Given the description of an element on the screen output the (x, y) to click on. 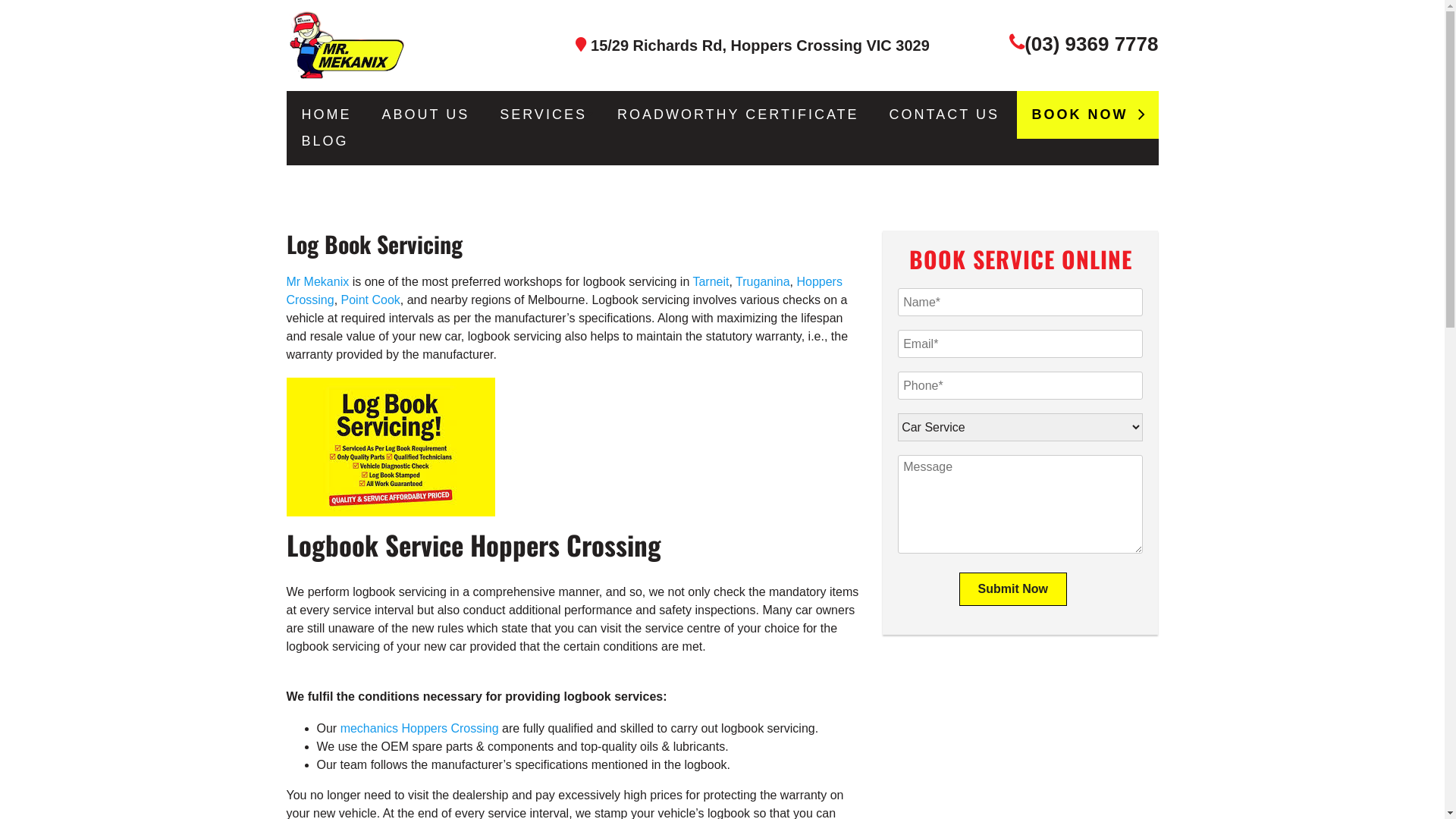
Mr Mekanix Element type: text (319, 281)
HOME Element type: text (326, 114)
Tarneit Element type: text (710, 281)
Hoppers Crossing Element type: text (564, 290)
BOOK NOW Element type: text (1086, 114)
ABOUT US Element type: text (426, 114)
BLOG Element type: text (324, 141)
mechanics Hoppers Crossing Element type: text (419, 727)
ROADWORTHY CERTIFICATE Element type: text (738, 114)
Submit Now Element type: text (1012, 588)
Point Cook Element type: text (370, 299)
Truganina Element type: text (762, 281)
(03) 9369 7778 Element type: text (1090, 43)
SERVICES Element type: text (542, 114)
CONTACT US Element type: text (944, 114)
